Given the description of an element on the screen output the (x, y) to click on. 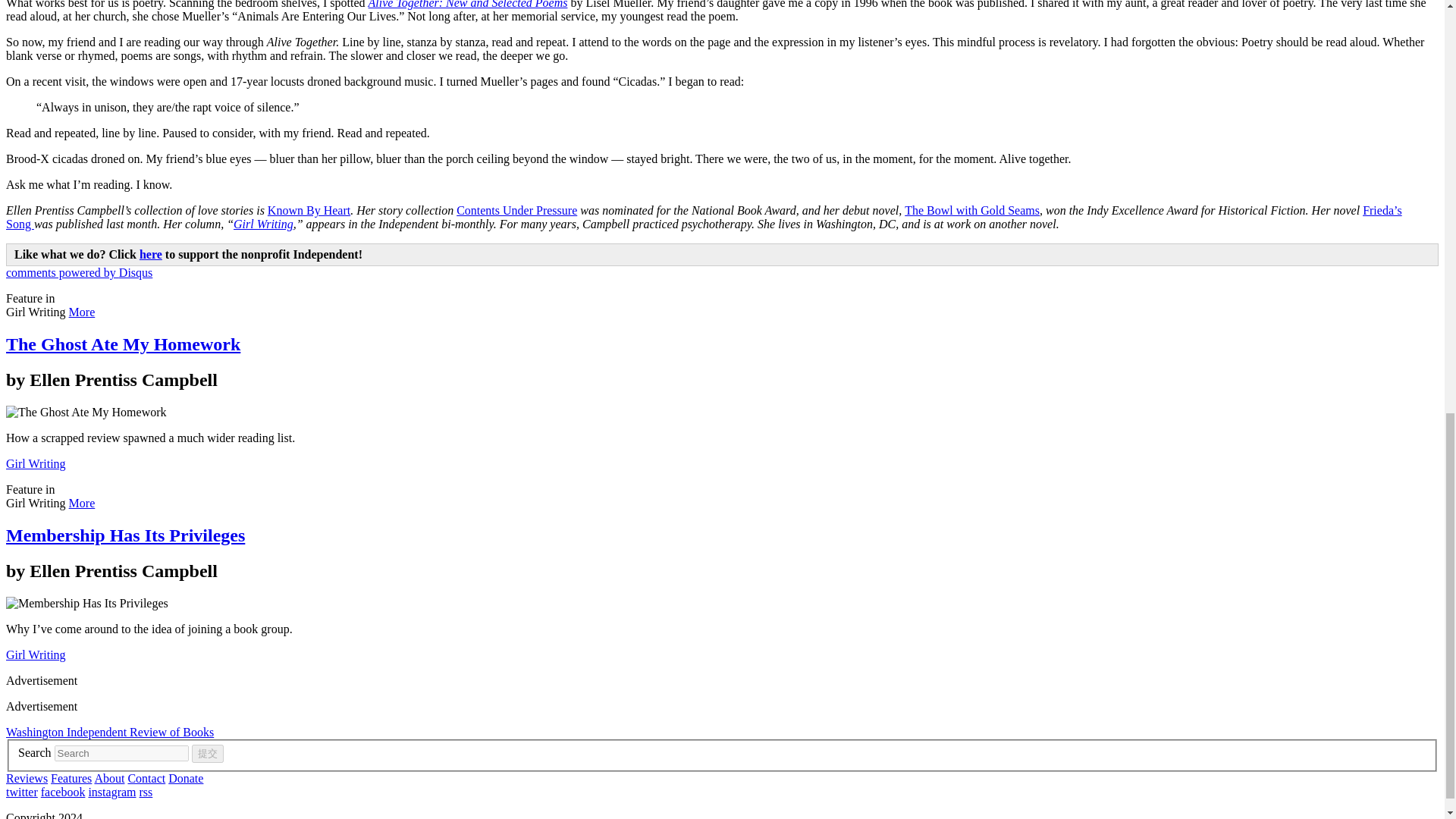
comments powered by Disqus (78, 272)
here (150, 254)
The Bowl with Gold Seams (971, 210)
Contents Under Pressure (516, 210)
Girl Writing (263, 223)
The Ghost Ate My Homework (122, 343)
Girl Writing (35, 463)
Known By Heart (308, 210)
Alive Together: New and Selected Poems (467, 4)
More (82, 311)
